Given the description of an element on the screen output the (x, y) to click on. 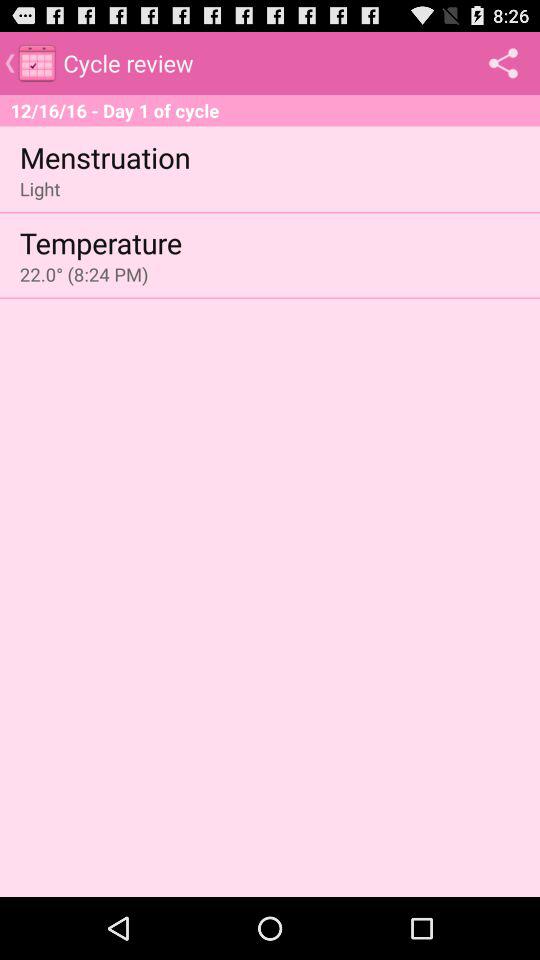
press the app at the top (270, 109)
